Given the description of an element on the screen output the (x, y) to click on. 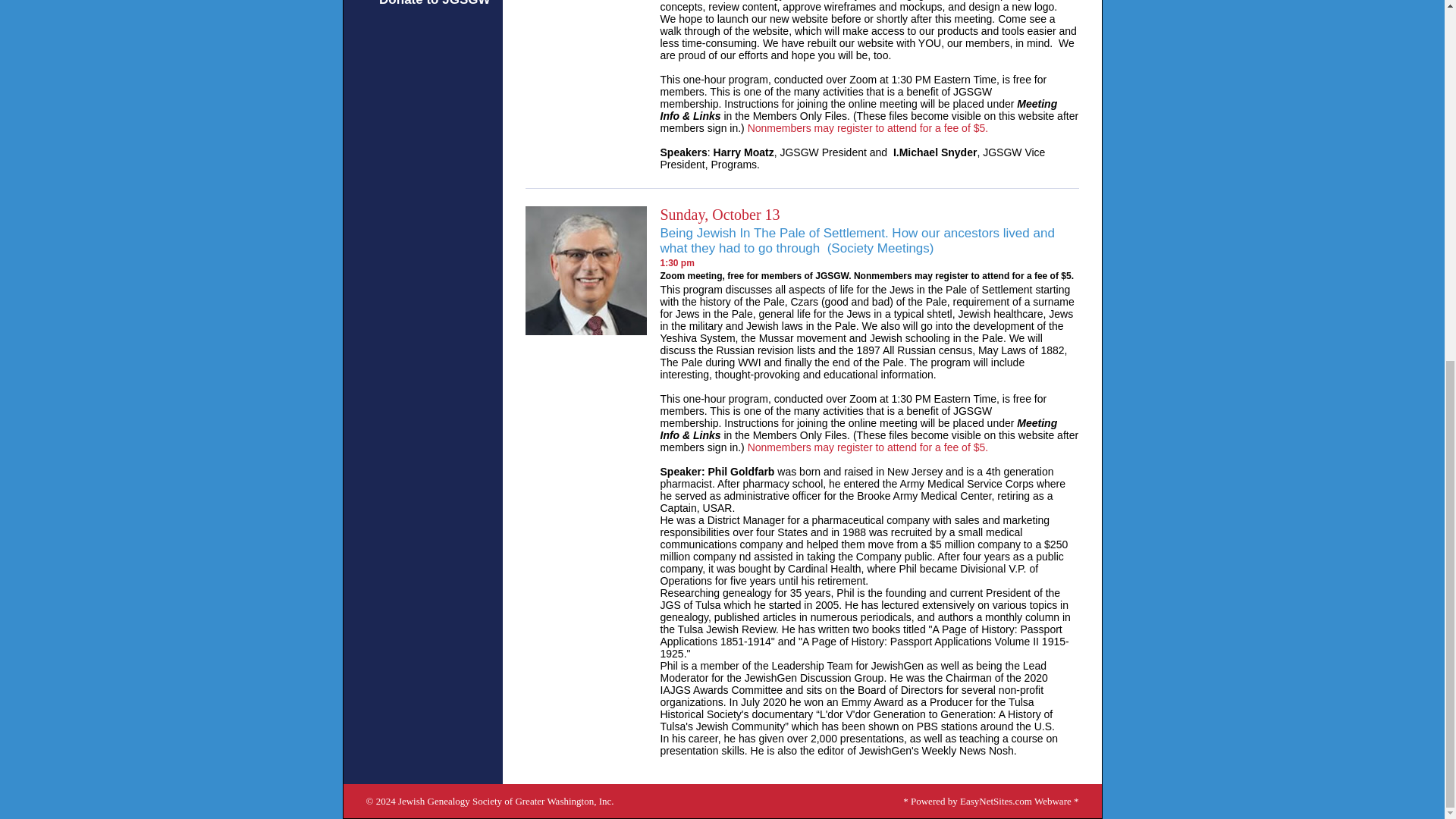
Donate to JGSGW (433, 3)
EasyNetSites.com (995, 800)
